Given the description of an element on the screen output the (x, y) to click on. 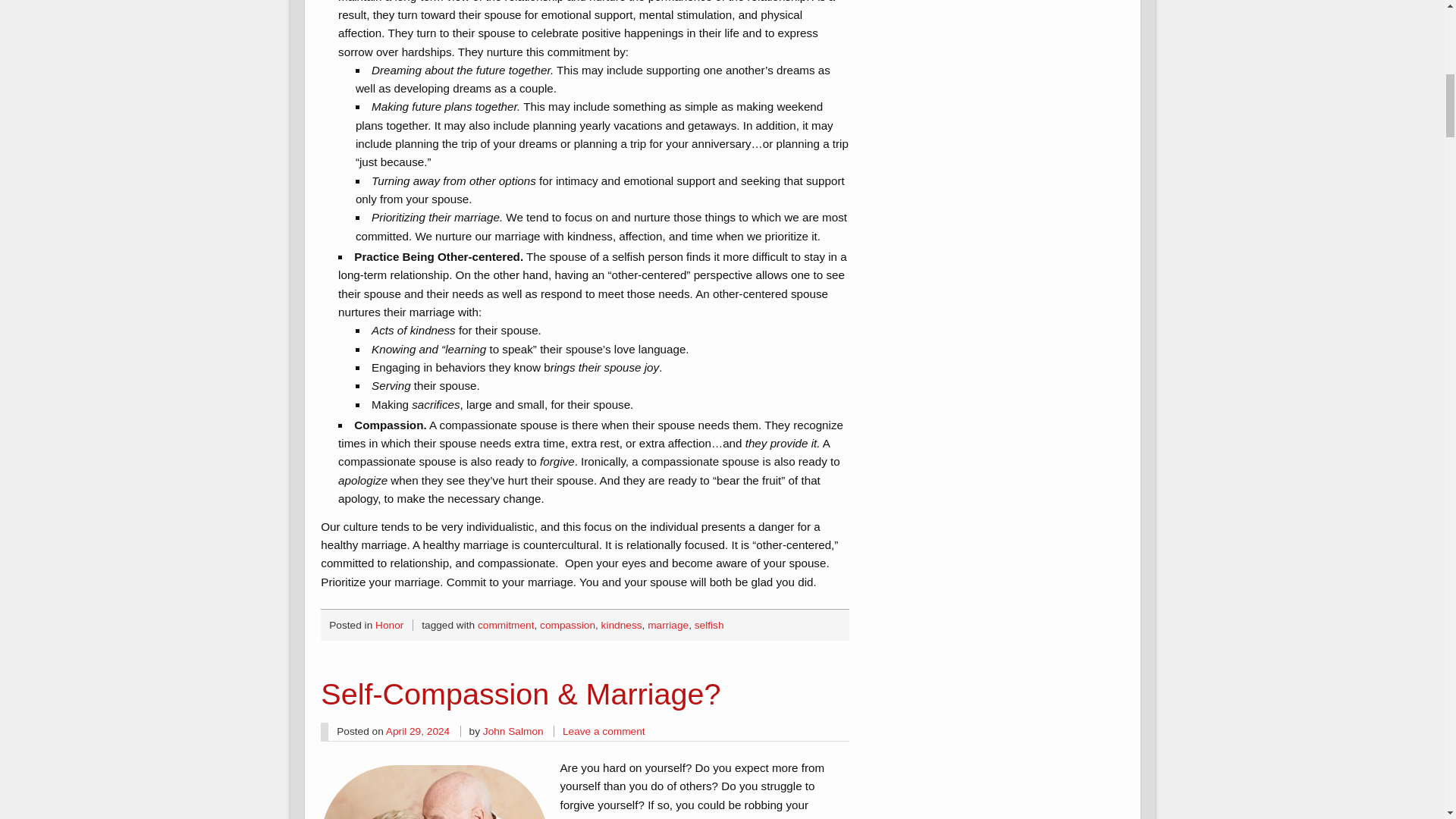
compassion (567, 624)
Honor (389, 624)
View all posts by John Salmon (513, 731)
selfish (708, 624)
April 29, 2024 (417, 731)
commitment (505, 624)
kindness (621, 624)
John Salmon (513, 731)
marriage (667, 624)
8:00 pm (417, 731)
